Given the description of an element on the screen output the (x, y) to click on. 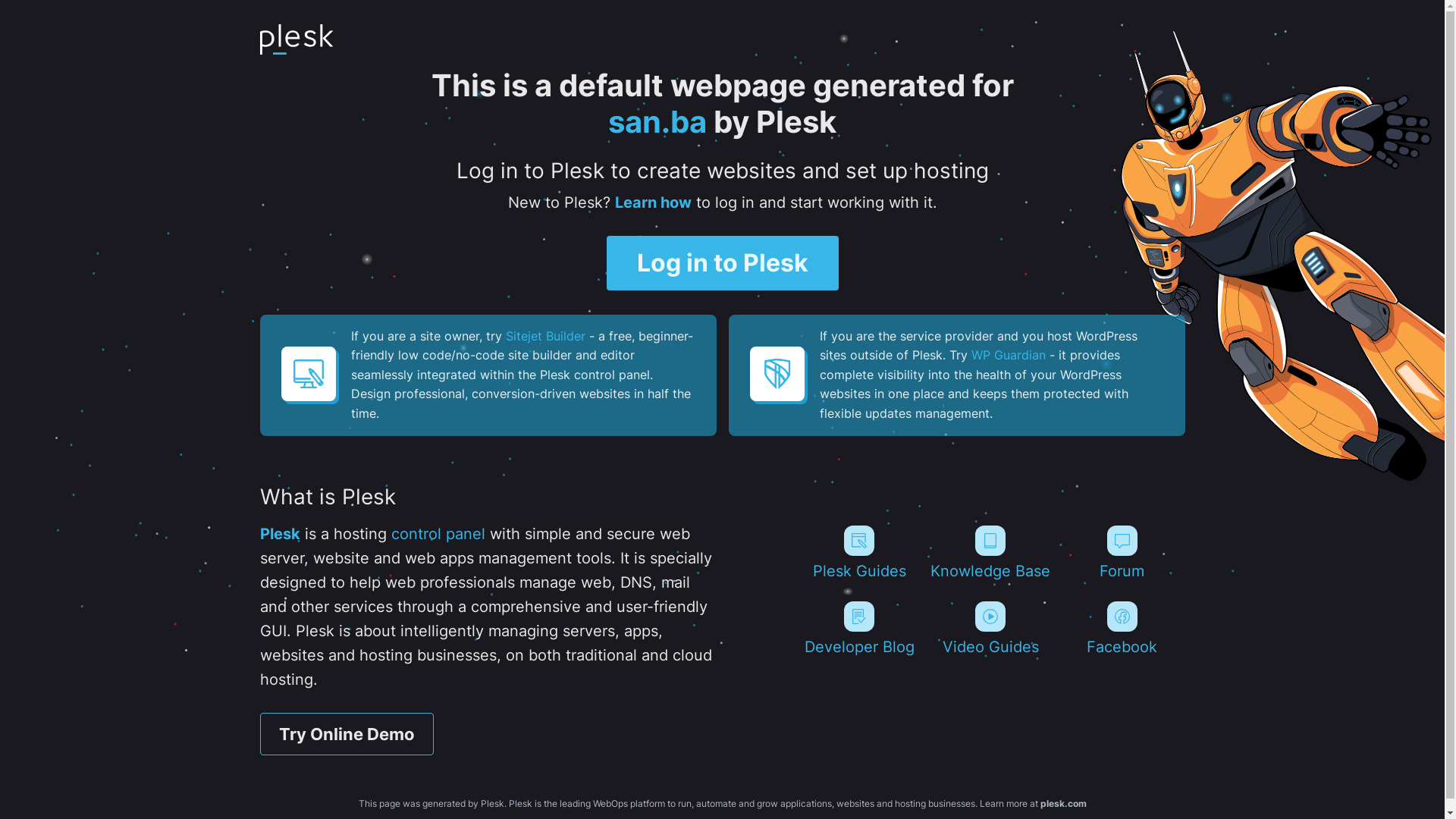
Facebook Element type: text (1121, 628)
control panel Element type: text (438, 533)
san.ba Element type: text (657, 121)
Developer Blog Element type: text (858, 628)
Sitejet Builder Element type: text (544, 335)
Knowledge Base Element type: text (990, 552)
Plesk Element type: text (279, 533)
Learn how Element type: text (652, 202)
Log in to Plesk Element type: text (722, 262)
Plesk Guides Element type: text (858, 552)
WP Guardian Element type: text (1007, 354)
Forum Element type: text (1121, 552)
Try Online Demo Element type: text (346, 733)
Video Guides Element type: text (990, 628)
plesk.com Element type: text (1063, 803)
